Given the description of an element on the screen output the (x, y) to click on. 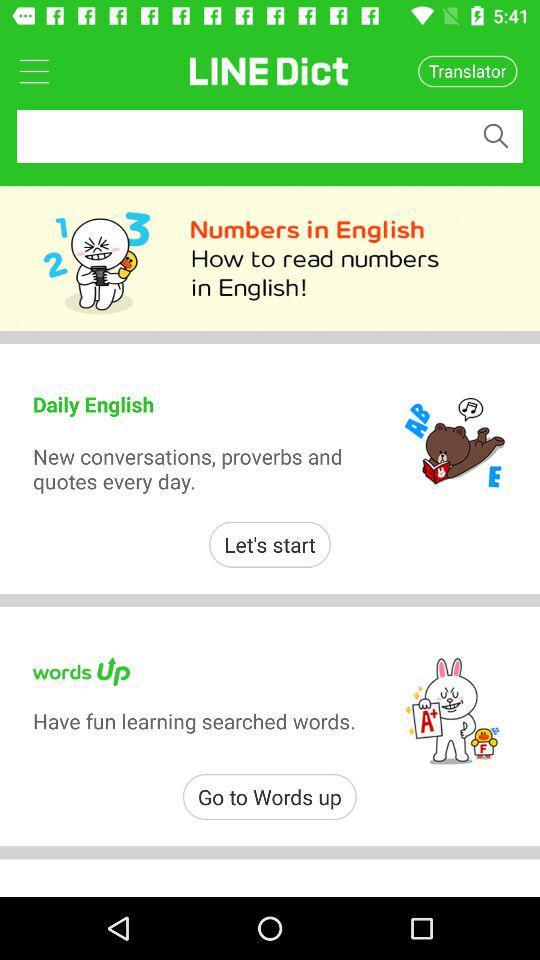
go to numbers in english (270, 258)
